Given the description of an element on the screen output the (x, y) to click on. 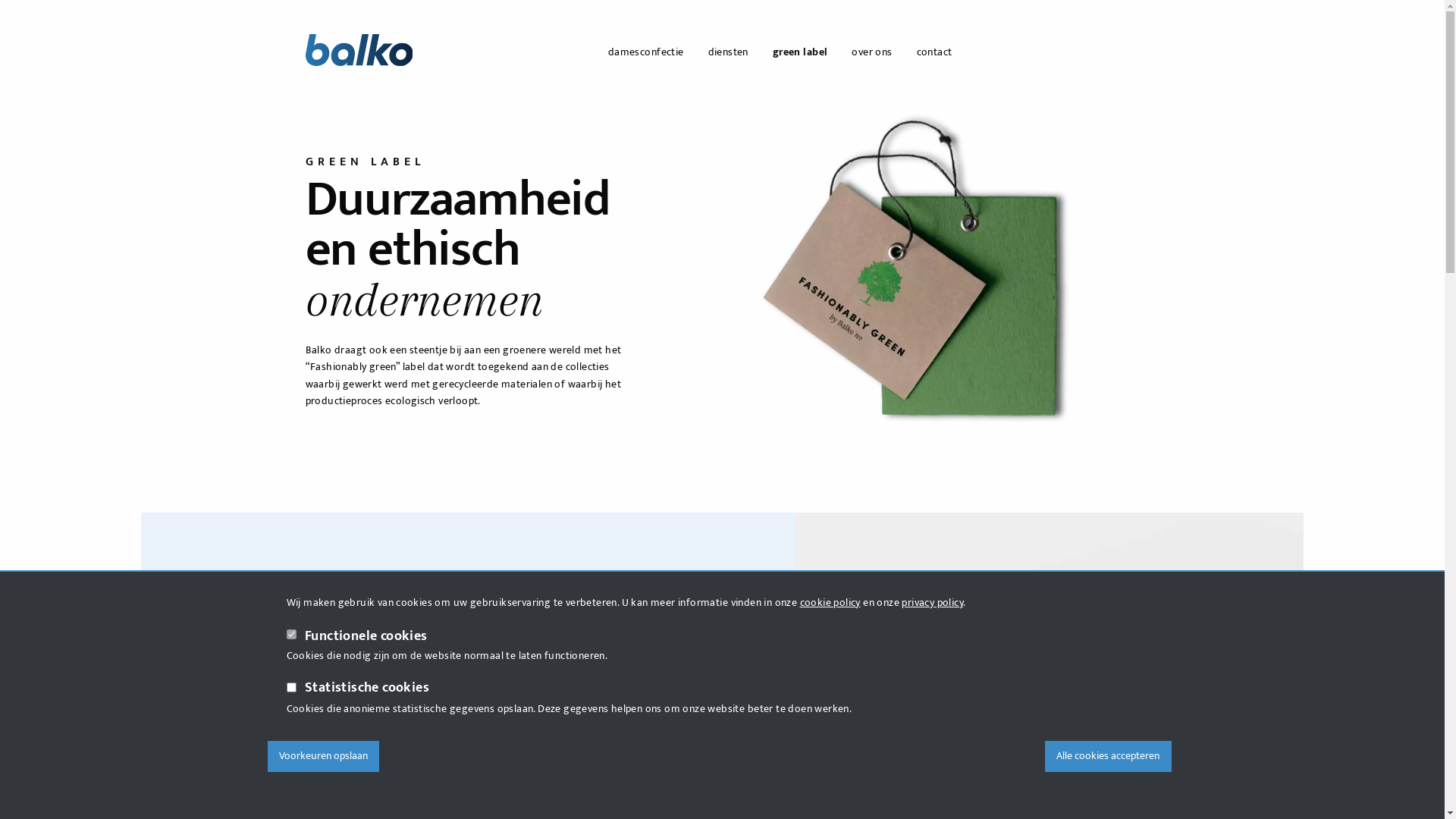
diensten Element type: text (728, 51)
over ons Element type: text (871, 51)
damesconfectie Element type: text (646, 51)
privacy policy Element type: text (932, 602)
Alle cookies accepteren Element type: text (1107, 755)
contact Element type: text (934, 51)
green label Element type: text (800, 51)
Voorkeuren opslaan Element type: text (322, 755)
Toestemming intrekken Element type: text (1165, 750)
Overslaan en naar de inhoud gaan Element type: text (0, 0)
cookie policy Element type: text (830, 602)
